Given the description of an element on the screen output the (x, y) to click on. 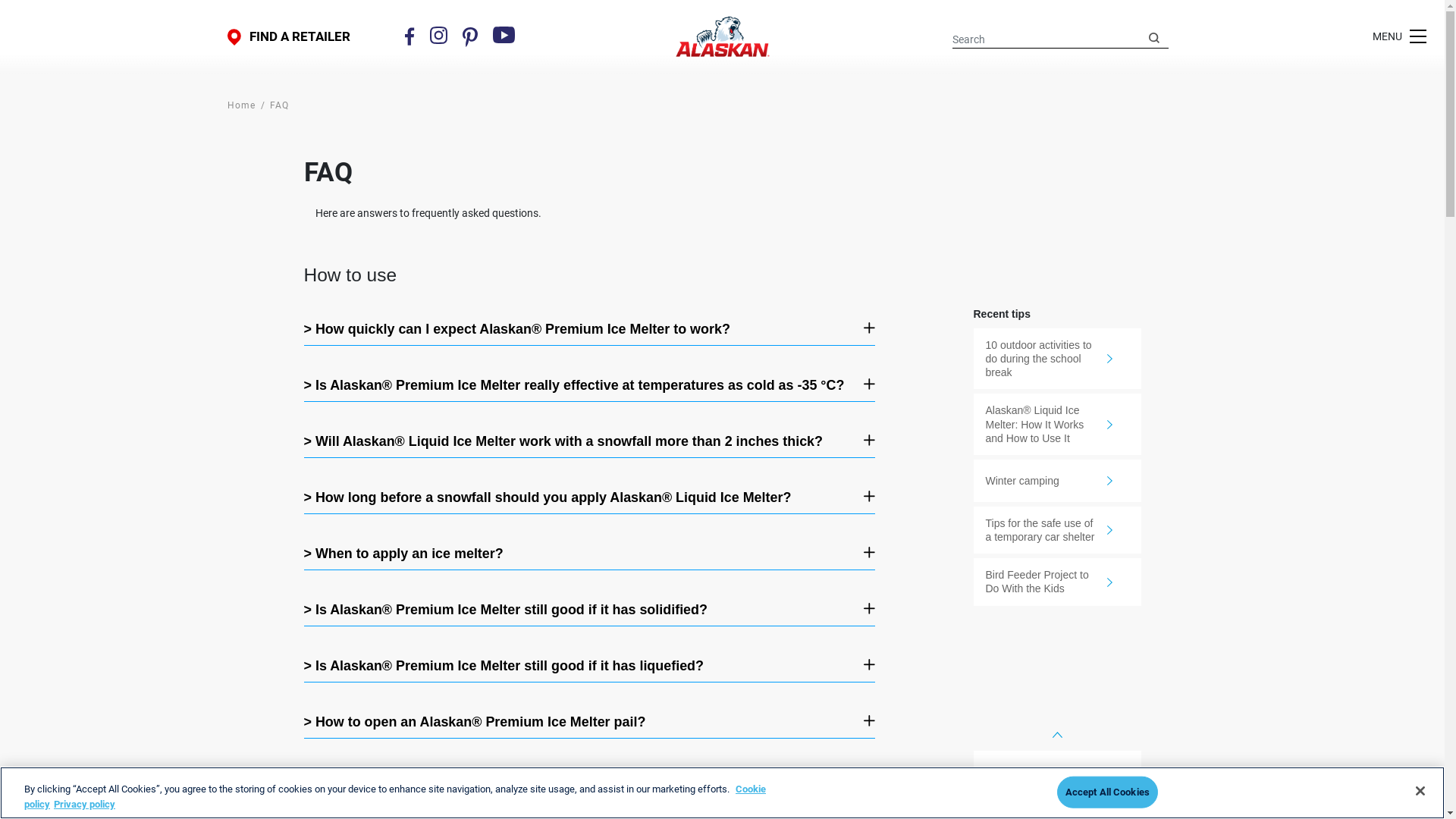
Facebook Element type: text (409, 35)
Tips for the safe use of a temporary car shelter Element type: text (1057, 529)
Search Element type: text (1153, 36)
Privacy policy Element type: text (84, 803)
Bird Feeder Project to Do With the Kids Element type: text (1057, 581)
Skip to main content Element type: text (0, 0)
Pinterest Element type: text (469, 36)
Winter camping Element type: text (1057, 480)
10 outdoor activities to do during the school break Element type: text (1057, 358)
Youtube Element type: text (503, 34)
Accept All Cookies Element type: text (1107, 792)
> When to apply an ice melter? Element type: text (579, 553)
Cookie policy Element type: text (394, 796)
FIND A RETAILER Element type: text (288, 36)
Home Element type: text (241, 105)
Instagram Element type: text (438, 34)
